Given the description of an element on the screen output the (x, y) to click on. 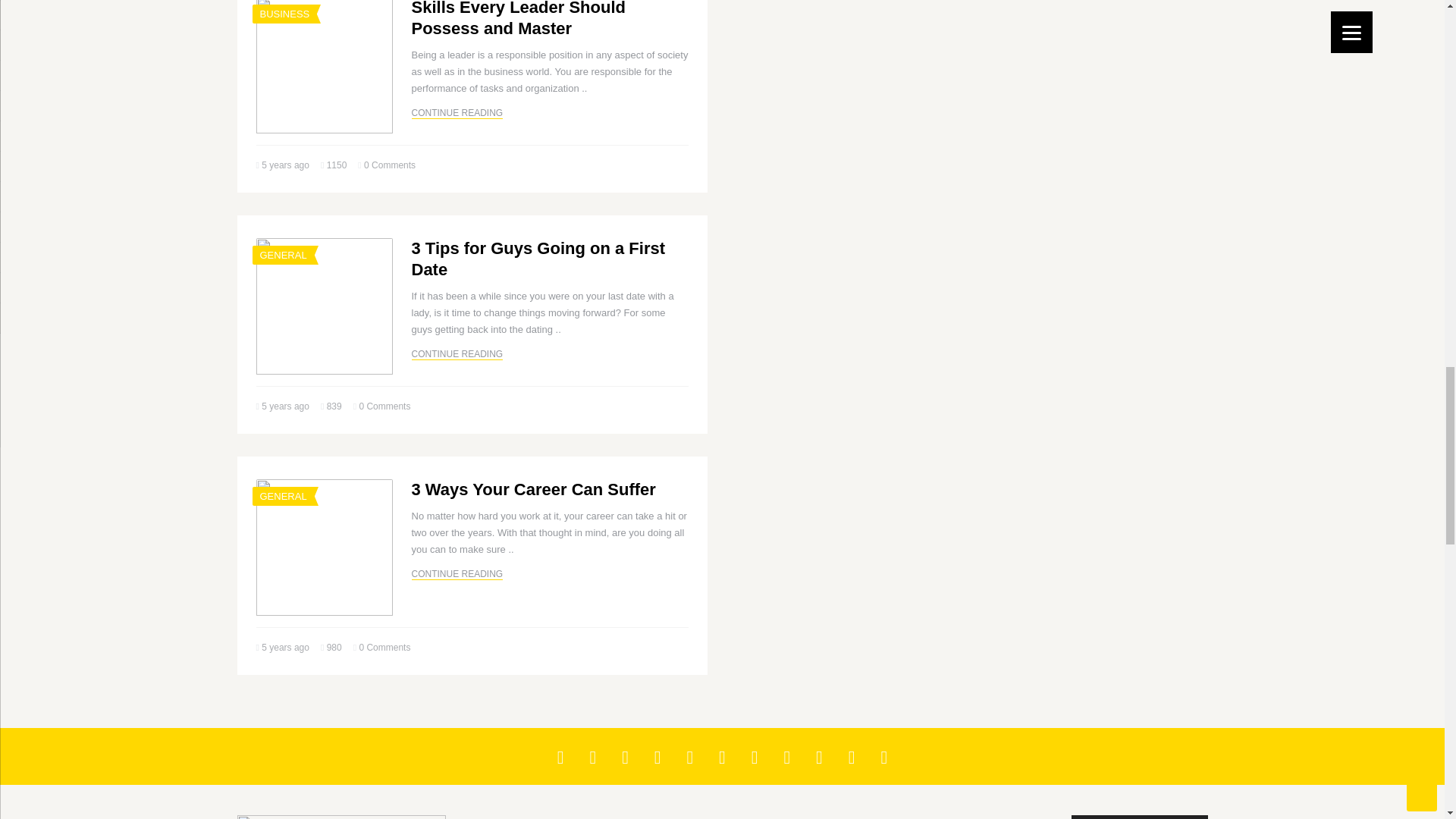
View all posts in General (282, 255)
View all posts in Business (283, 13)
View all posts in General (282, 496)
